Given the description of an element on the screen output the (x, y) to click on. 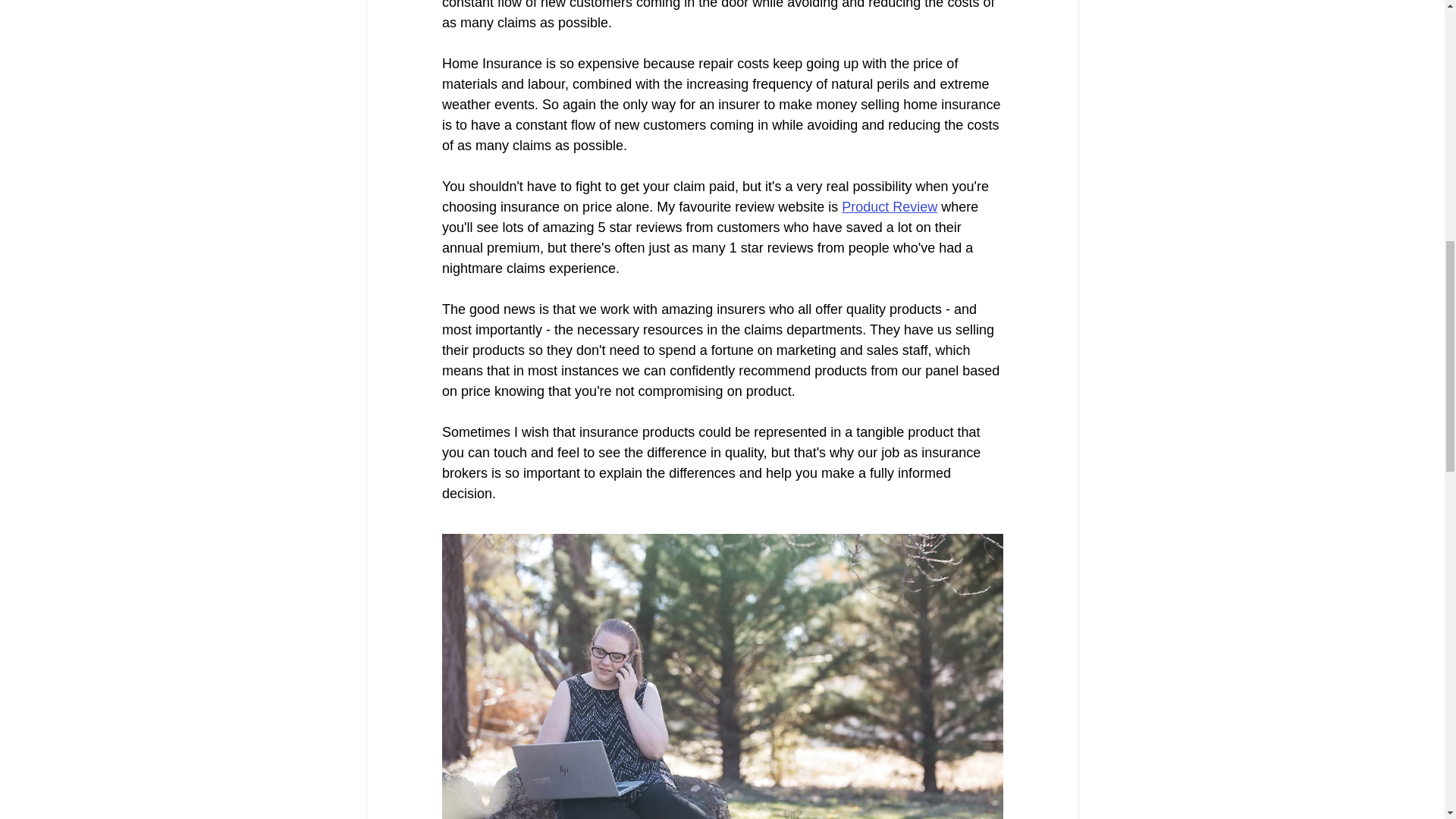
Product Review (889, 206)
